Given the description of an element on the screen output the (x, y) to click on. 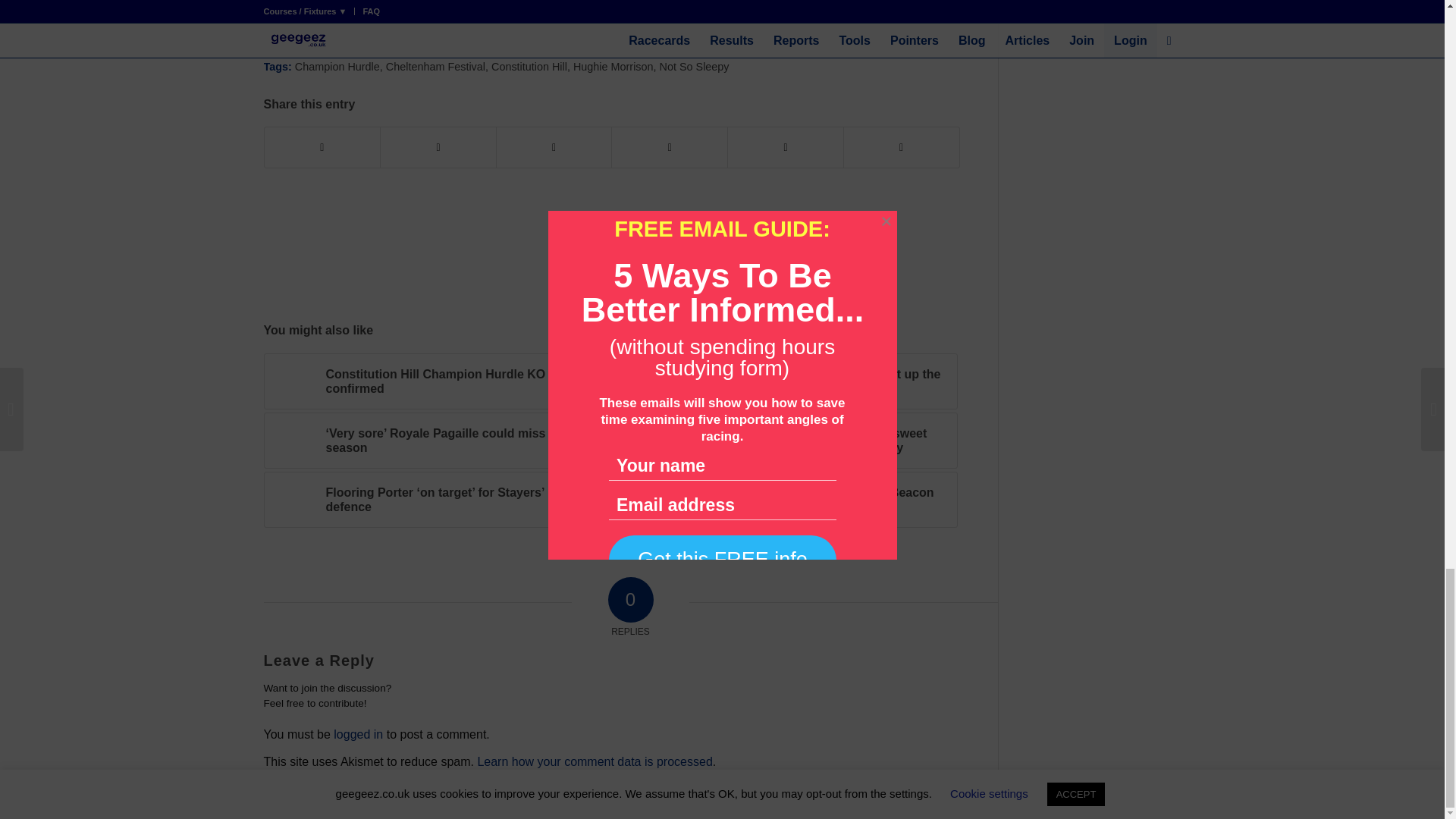
Constitution Hill Champion Hurdle KO confirmed (436, 380)
